Given the description of an element on the screen output the (x, y) to click on. 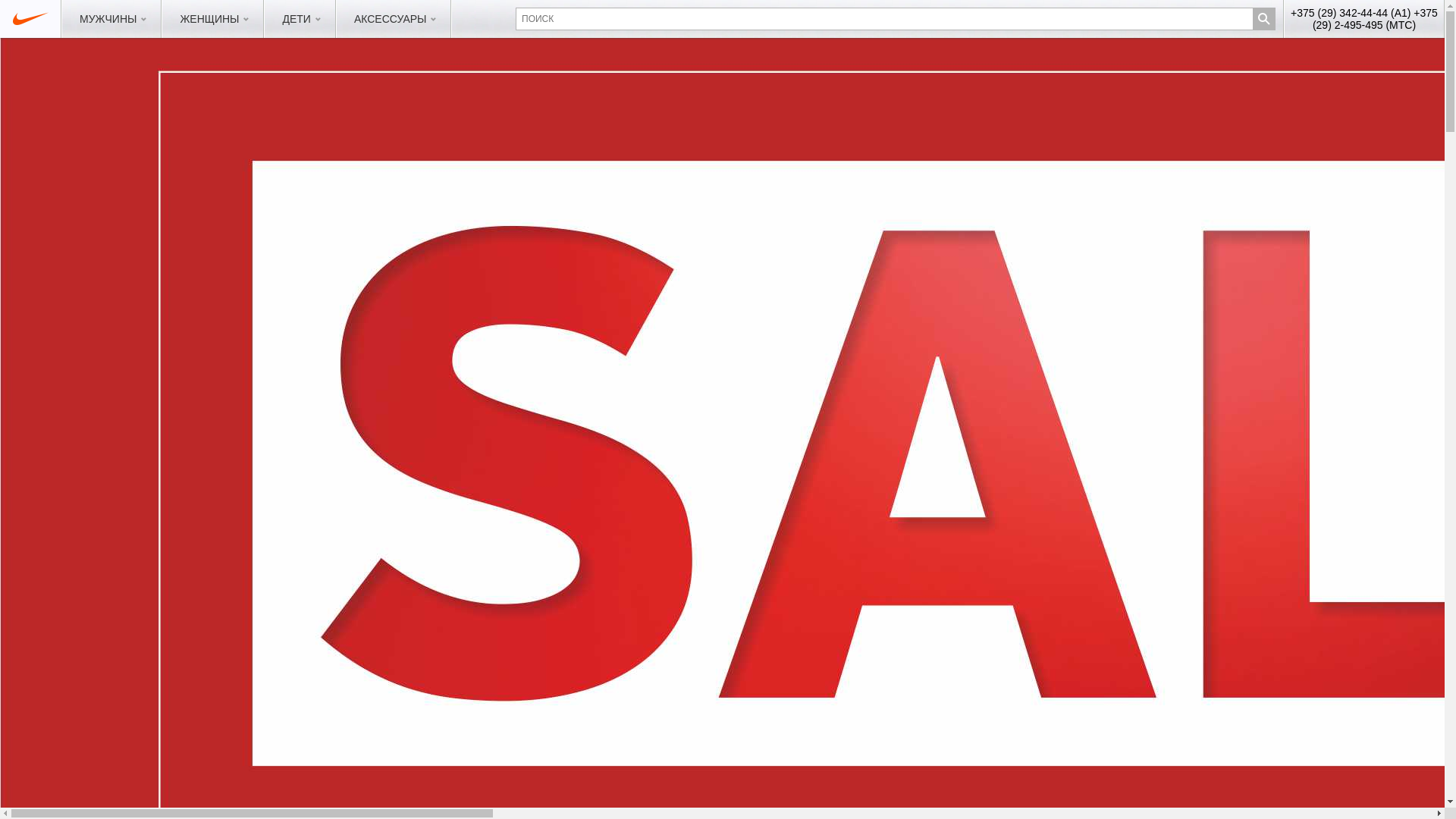
sportmix.by Element type: hover (30, 18)
